Given the description of an element on the screen output the (x, y) to click on. 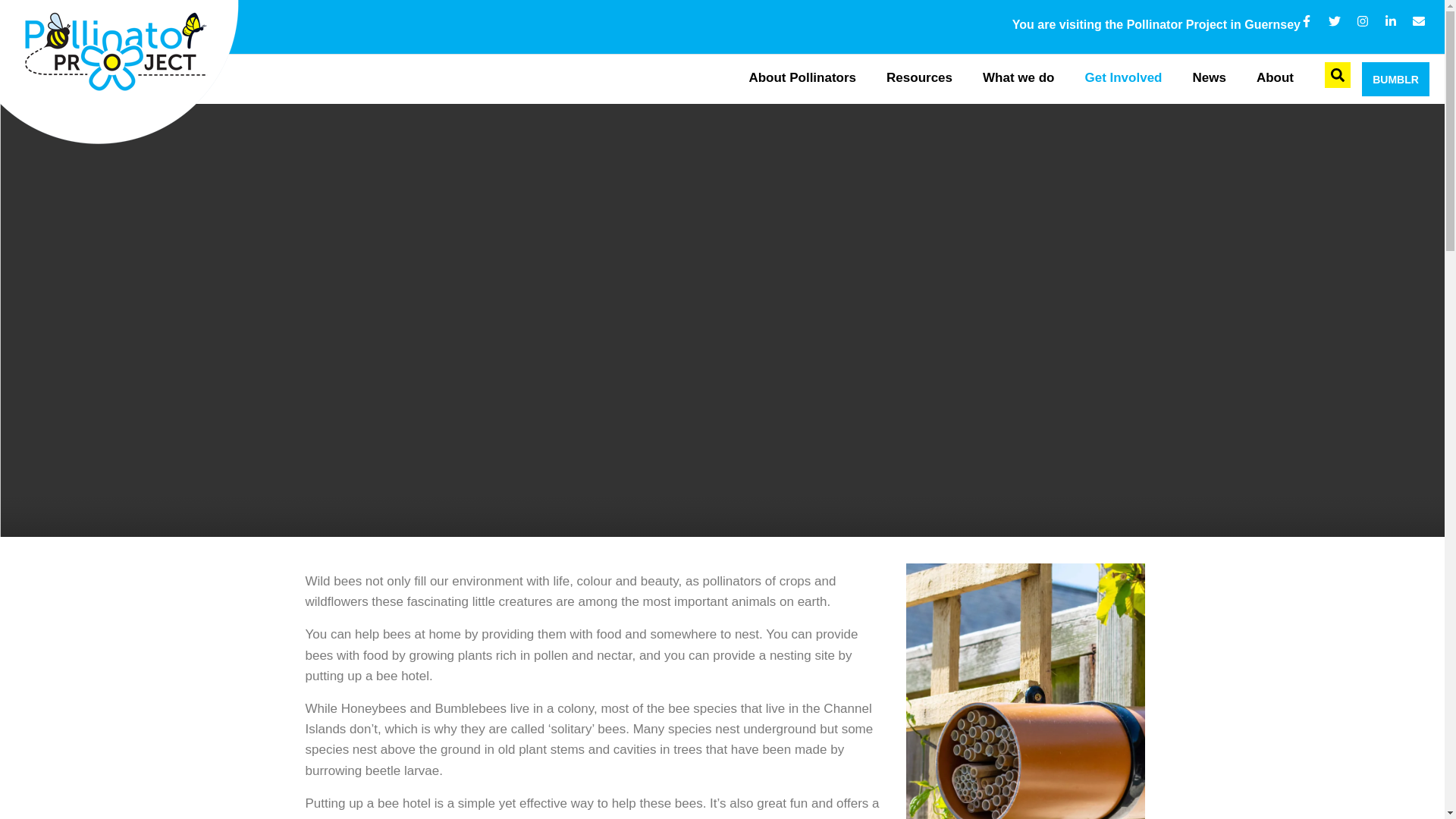
Get Involved (1122, 78)
News (1208, 78)
Resources (919, 78)
About (1274, 78)
About Pollinators (801, 78)
What we do (1018, 78)
